Given the description of an element on the screen output the (x, y) to click on. 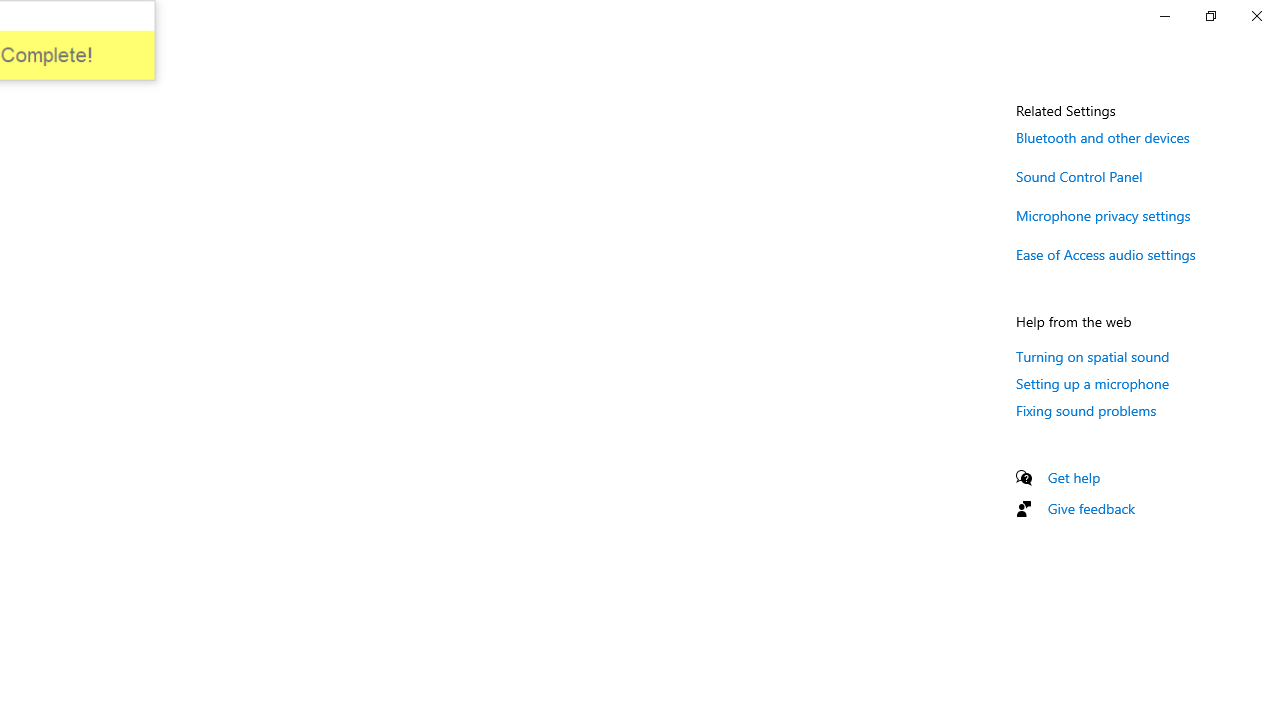
Bluetooth and other devices (1103, 137)
Microphone privacy settings (1103, 214)
Fixing sound problems (1086, 410)
Ease of Access audio settings (1105, 254)
Setting up a microphone (1092, 383)
Sound Control Panel (1079, 176)
Turning on spatial sound (1092, 356)
